Given the description of an element on the screen output the (x, y) to click on. 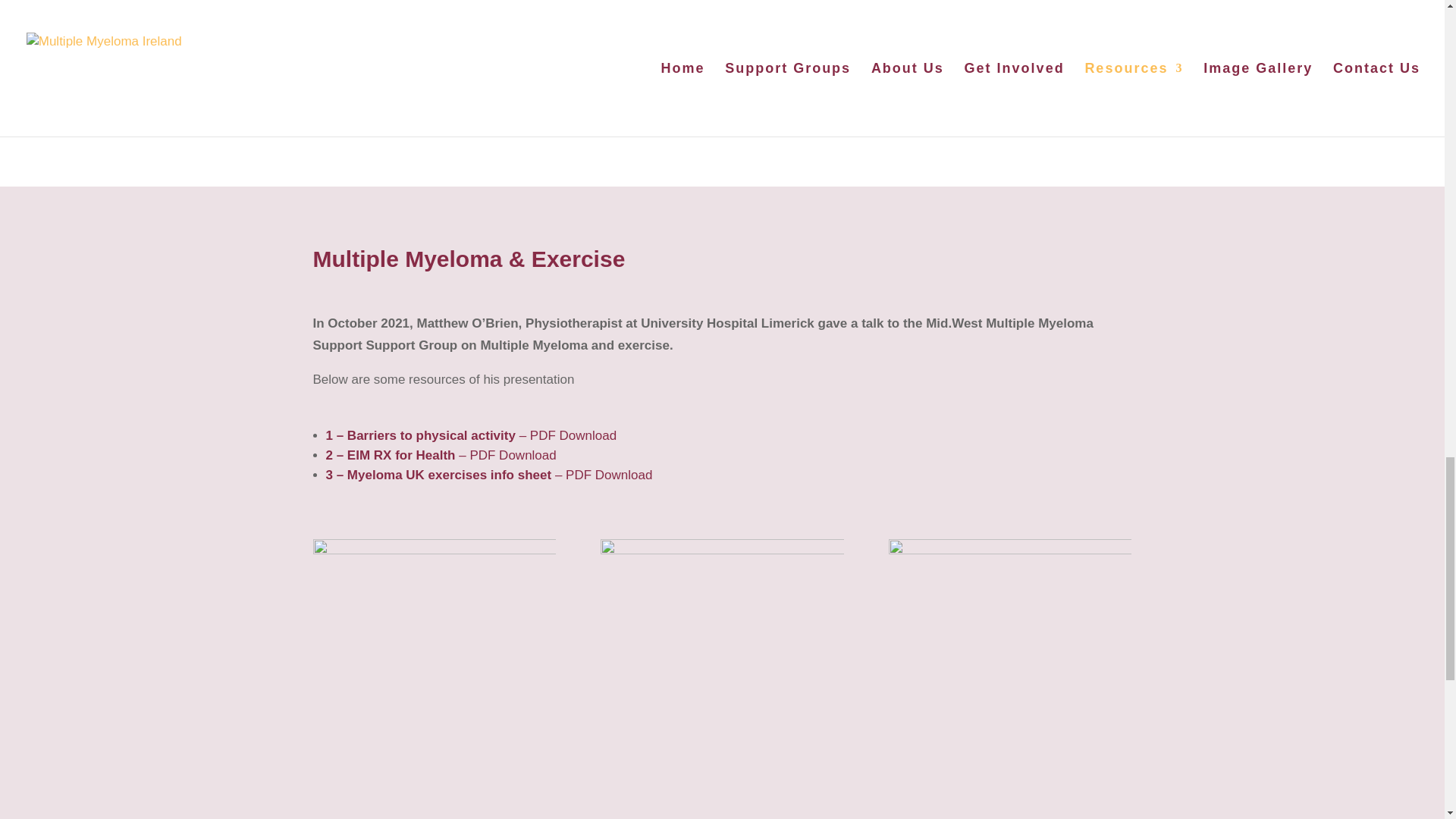
View Clips (721, 75)
View Factsheets (434, 75)
barriers-to-physical-activity-quiz (433, 678)
Myeloma-UK-Exercises-for-myeloma-patients-Infosheet (1009, 678)
View Webinars (1010, 75)
